Given the description of an element on the screen output the (x, y) to click on. 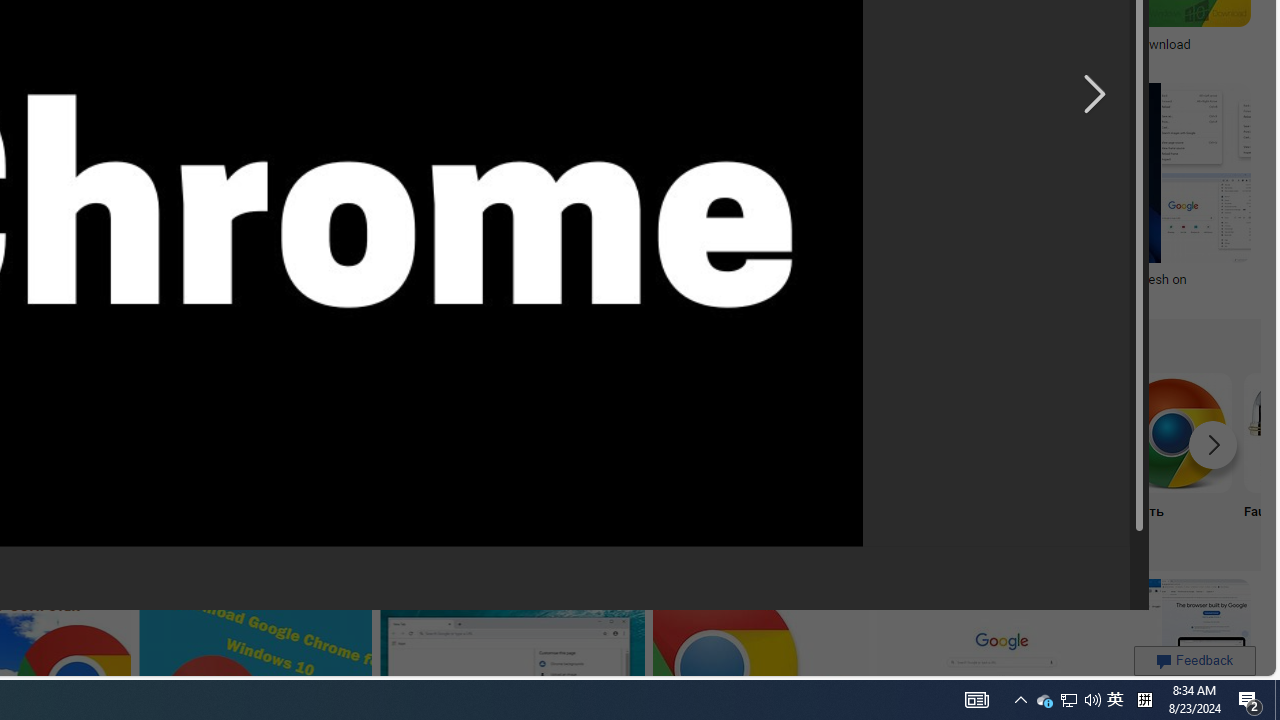
Install chrome for windows 10 - radicallio (769, 44)
Chrome Search Bar Search Bar (248, 458)
Get Google Chrome Get Google (380, 458)
Search Bar (248, 457)
Chrome Download for PC (116, 432)
Image result for Chrome Windows (725, 172)
Chrome Internet Browser Download Internet-Browser Download (643, 458)
New Logo (511, 457)
Chrome New Logo New Logo (511, 458)
Google Chrome - Windows 10 Download (1074, 44)
Use Google Chrome Use Google (907, 458)
